Given the description of an element on the screen output the (x, y) to click on. 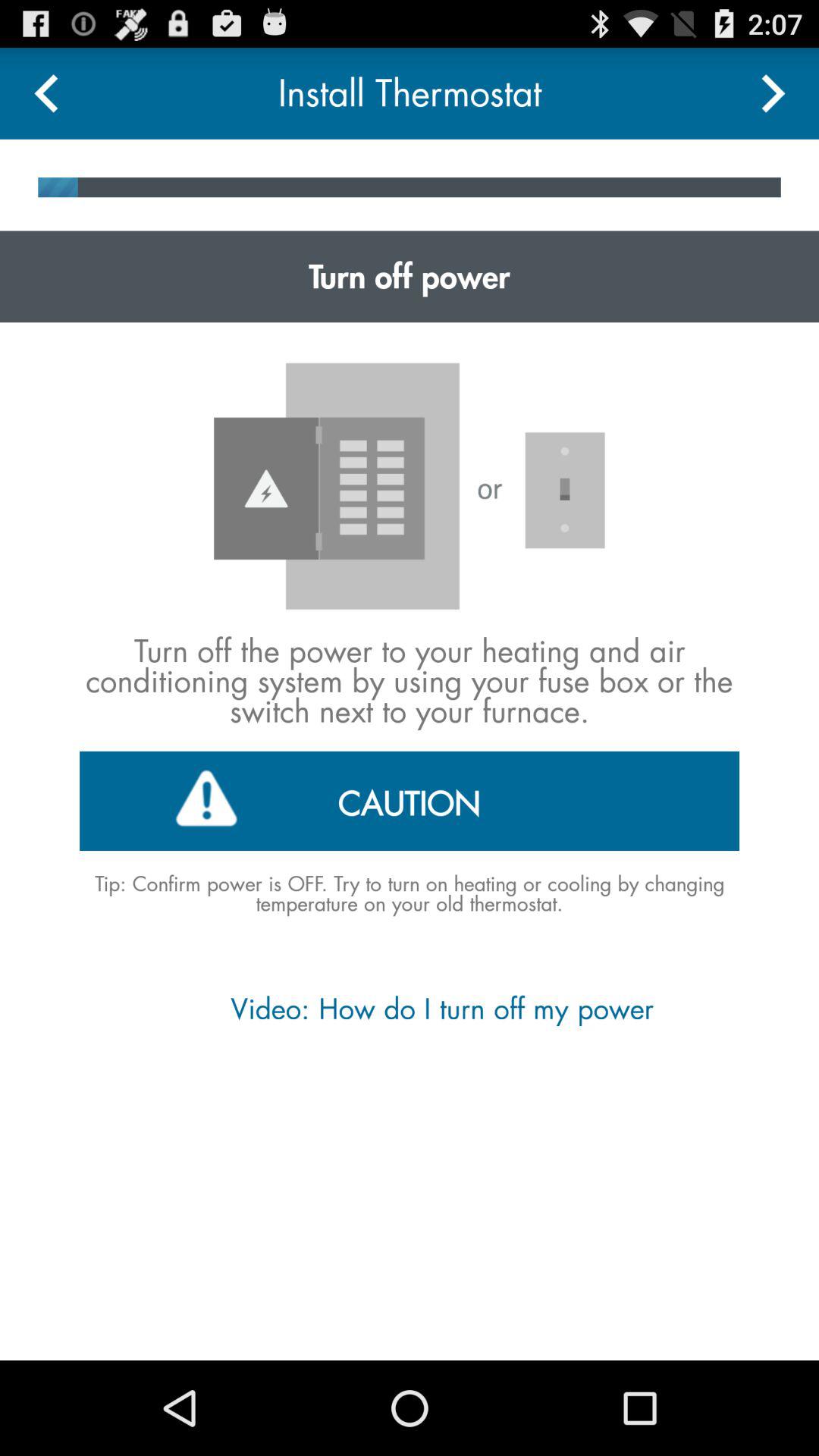
next go option (773, 93)
